Given the description of an element on the screen output the (x, y) to click on. 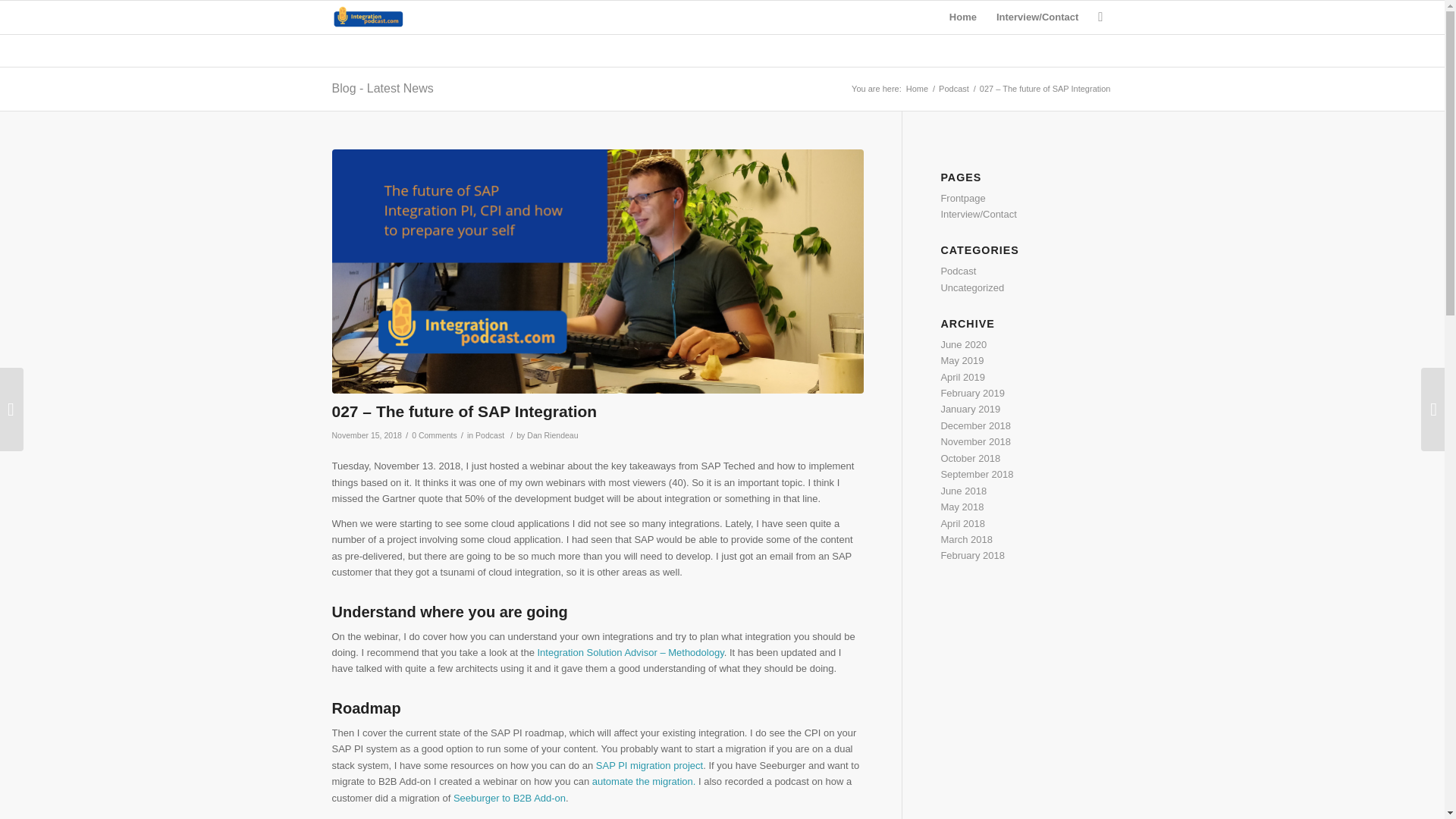
SAP PI migration project (647, 765)
Integration Podcast (917, 89)
Posts by Dan Riendeau (552, 434)
Home (963, 17)
automate the migration. (643, 781)
Permanent Link: Blog - Latest News (382, 88)
Podcast (953, 89)
Seeburger to B2B Add-on (509, 797)
Dan Riendeau (552, 434)
Podcast (489, 434)
